Given the description of an element on the screen output the (x, y) to click on. 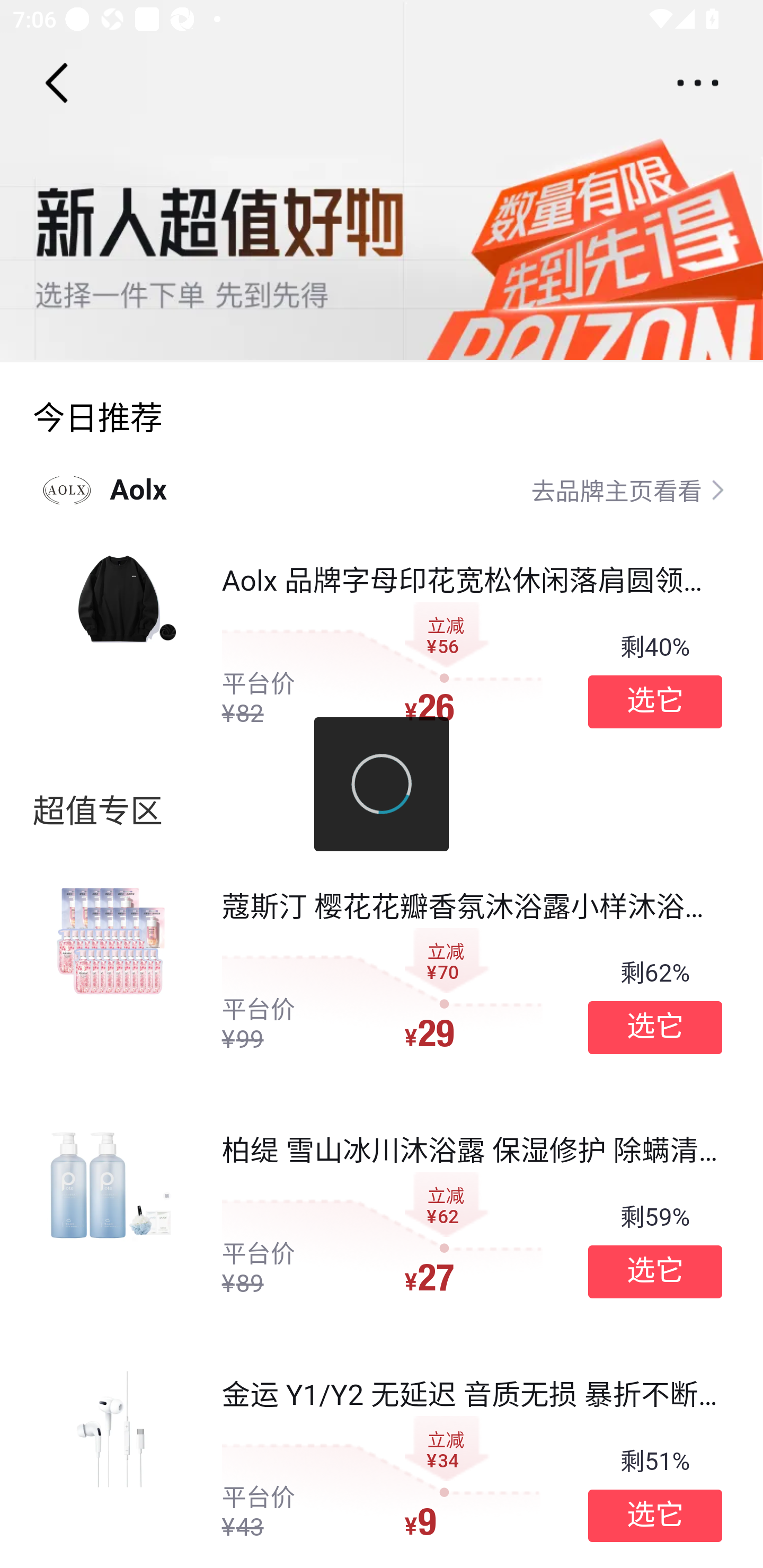
Aolx去品牌主页看看 (381, 489)
选它 (654, 701)
选它 (654, 1027)
选它 (654, 1271)
选它 (654, 1515)
